Given the description of an element on the screen output the (x, y) to click on. 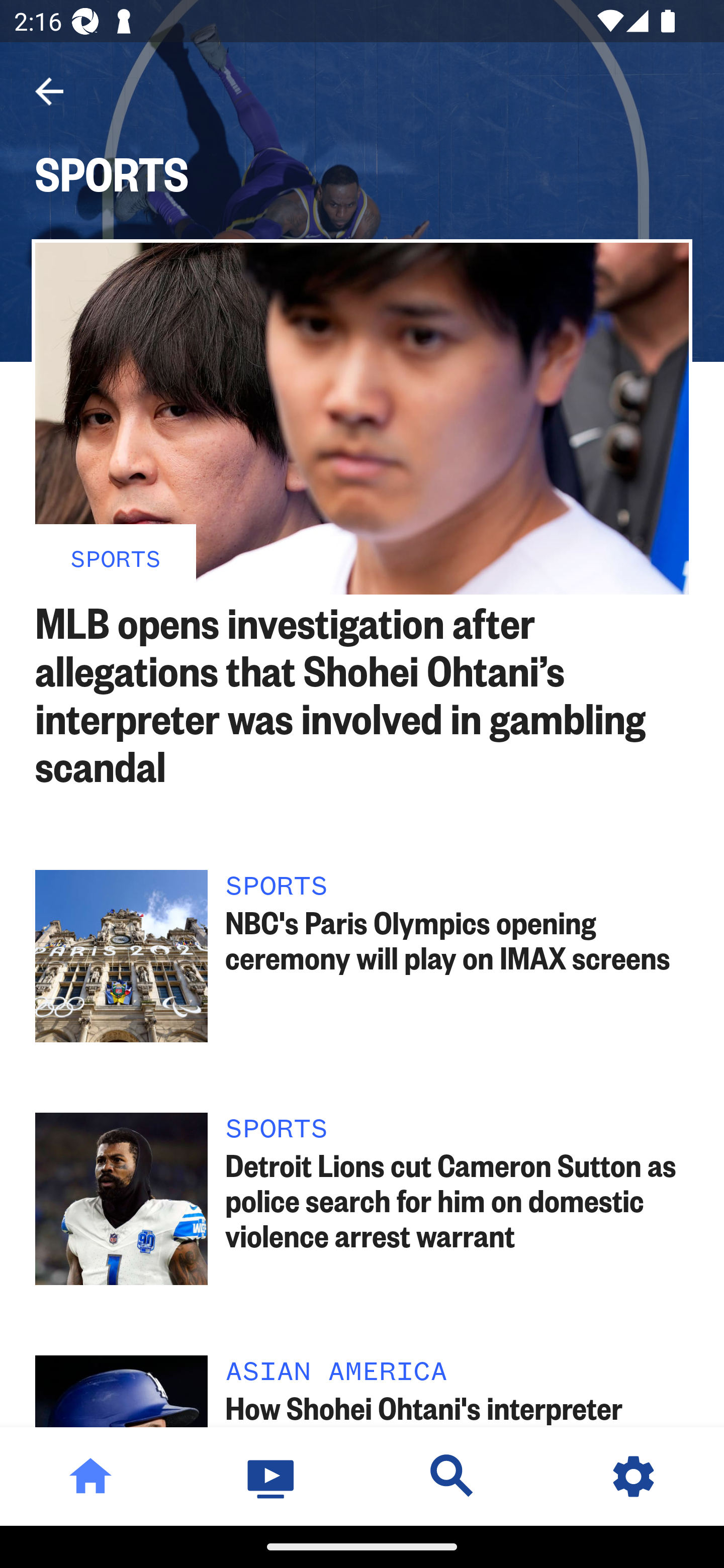
Navigate up (49, 91)
Watch (271, 1475)
Discover (452, 1475)
Settings (633, 1475)
